Given the description of an element on the screen output the (x, y) to click on. 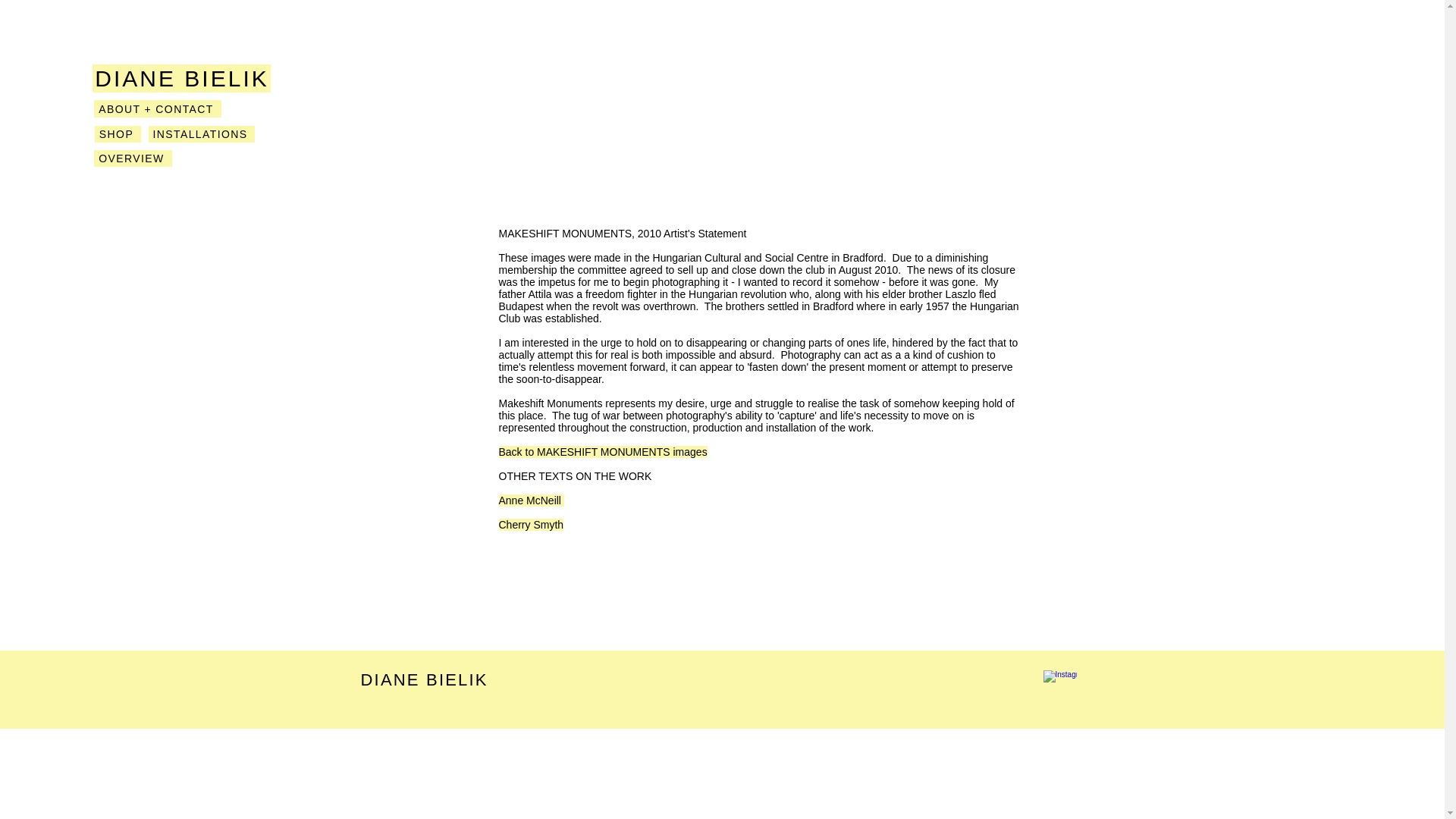
DIANE BIELIK (177, 78)
OVERVIEW (132, 158)
Back to MAKESHIFT MONUMENTS images (603, 451)
DIANE BIELIK (424, 679)
Cherry Smyth (531, 524)
INSTALLATIONS (201, 134)
SHOP (117, 134)
Anne McNeill (531, 500)
